Given the description of an element on the screen output the (x, y) to click on. 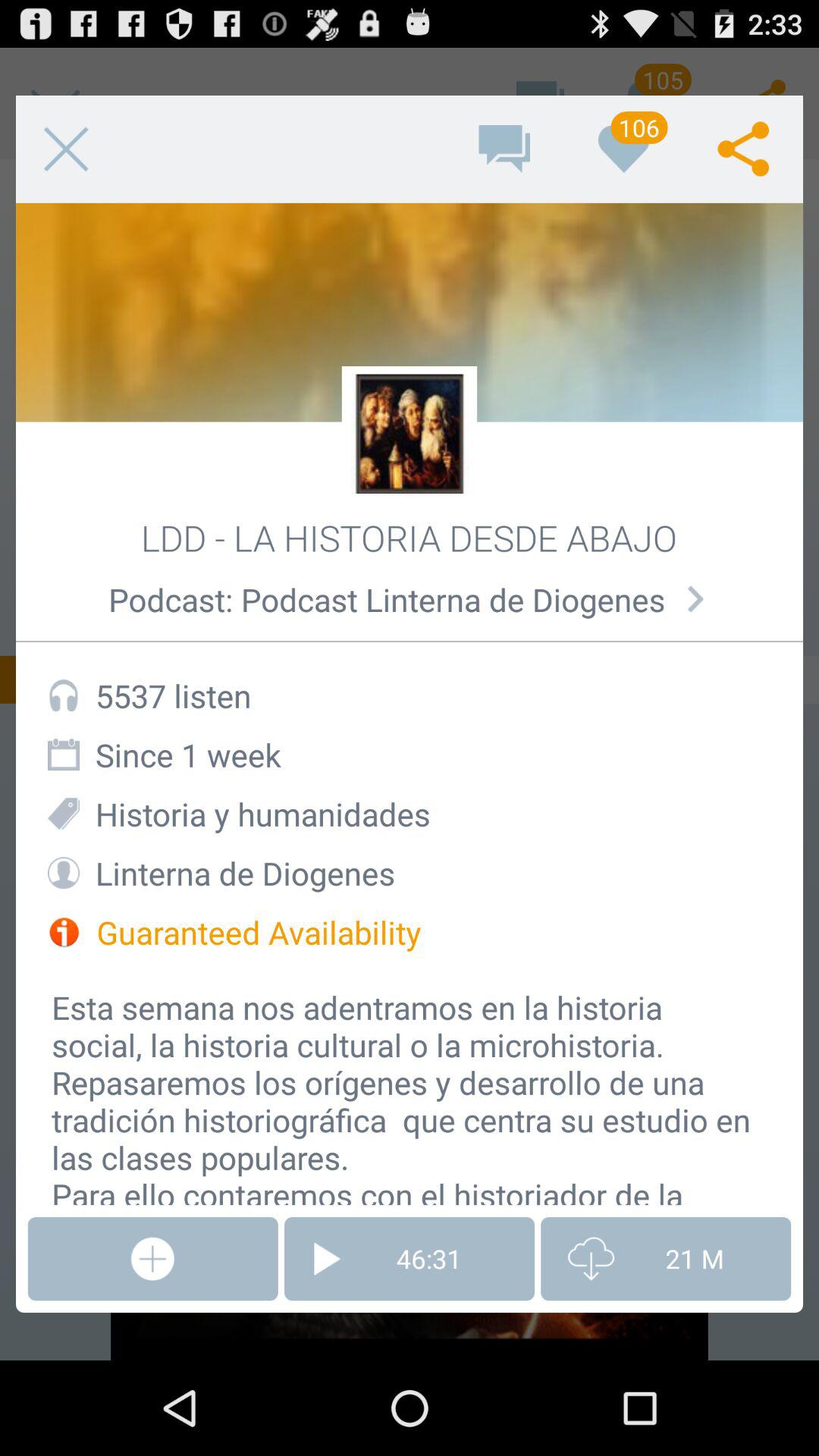
tap the item next to 46:31 item (665, 1258)
